Given the description of an element on the screen output the (x, y) to click on. 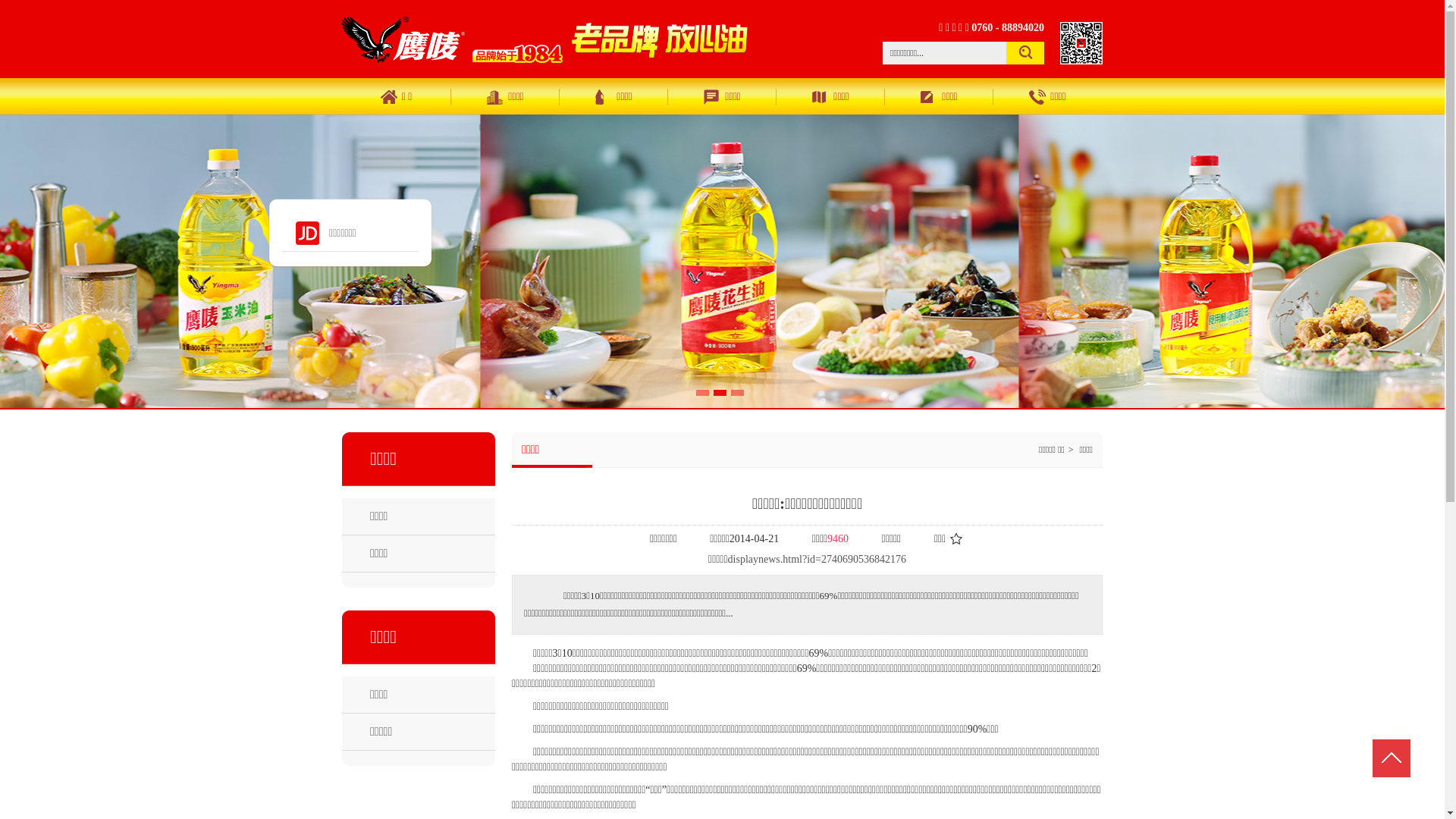
displaynews.html?id=2740690536842176 Element type: text (817, 558)
